Given the description of an element on the screen output the (x, y) to click on. 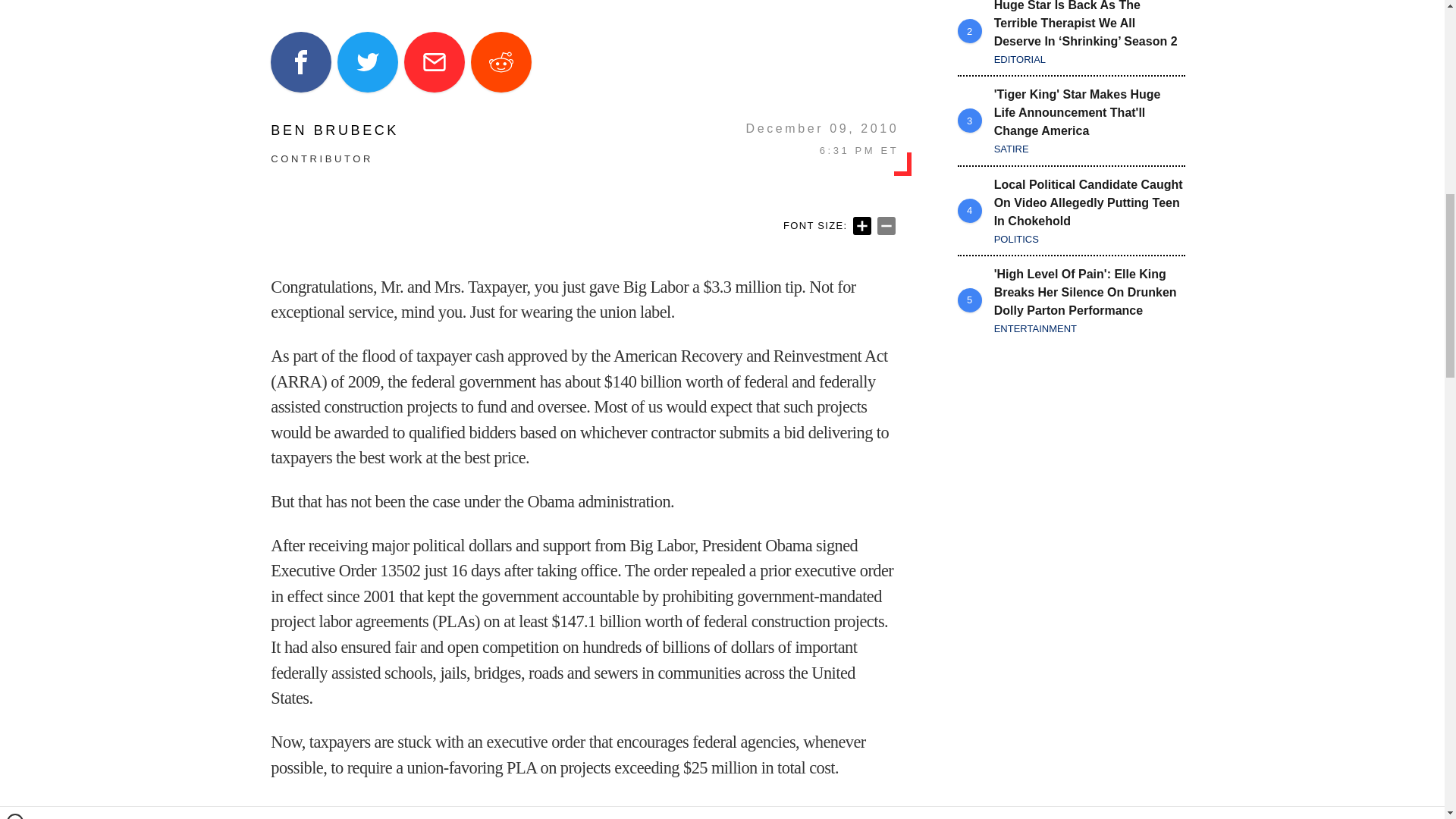
Close window (14, 6)
BEN BRUBECK (334, 130)
View More Articles By Ben Brubeck (334, 130)
